Given the description of an element on the screen output the (x, y) to click on. 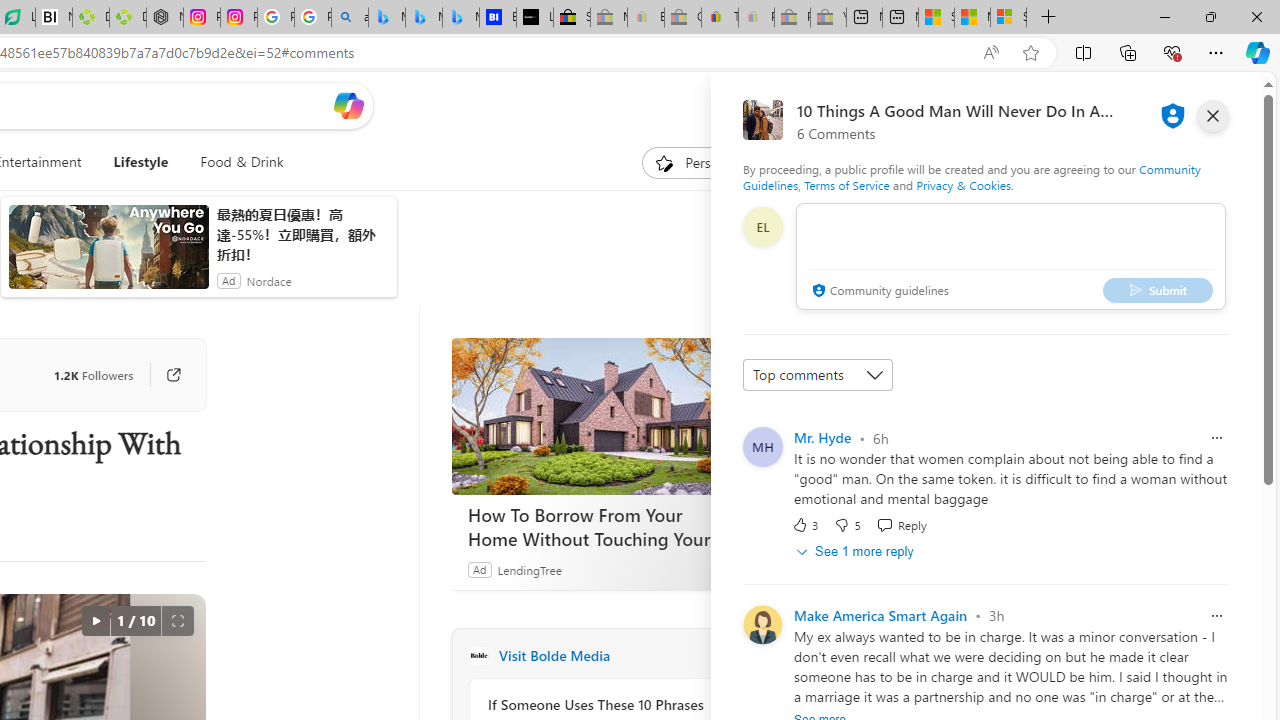
Yard, Garden & Outdoor Living - Sleeping (828, 17)
